Given the description of an element on the screen output the (x, y) to click on. 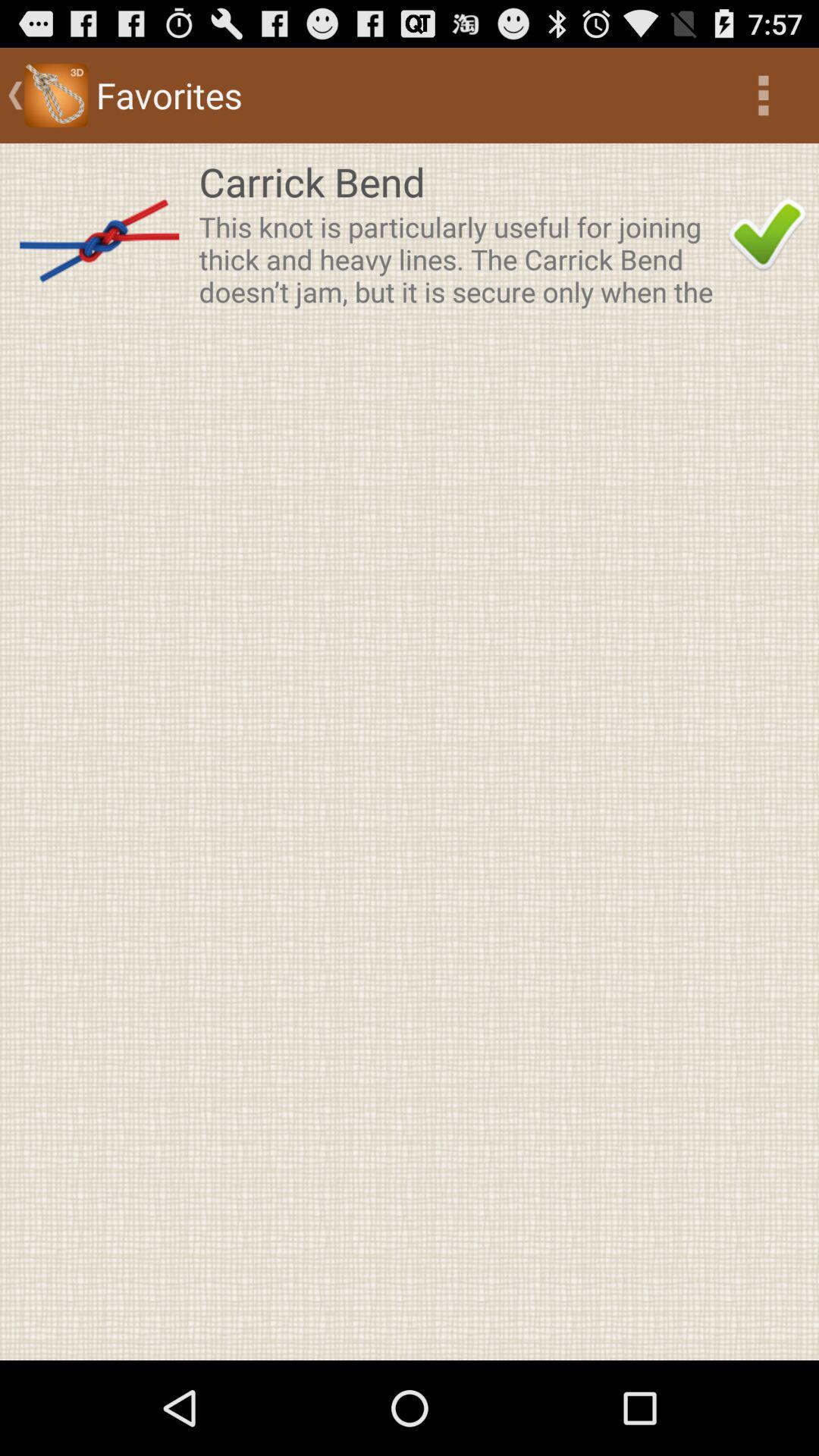
open the icon next to favorites (763, 95)
